Given the description of an element on the screen output the (x, y) to click on. 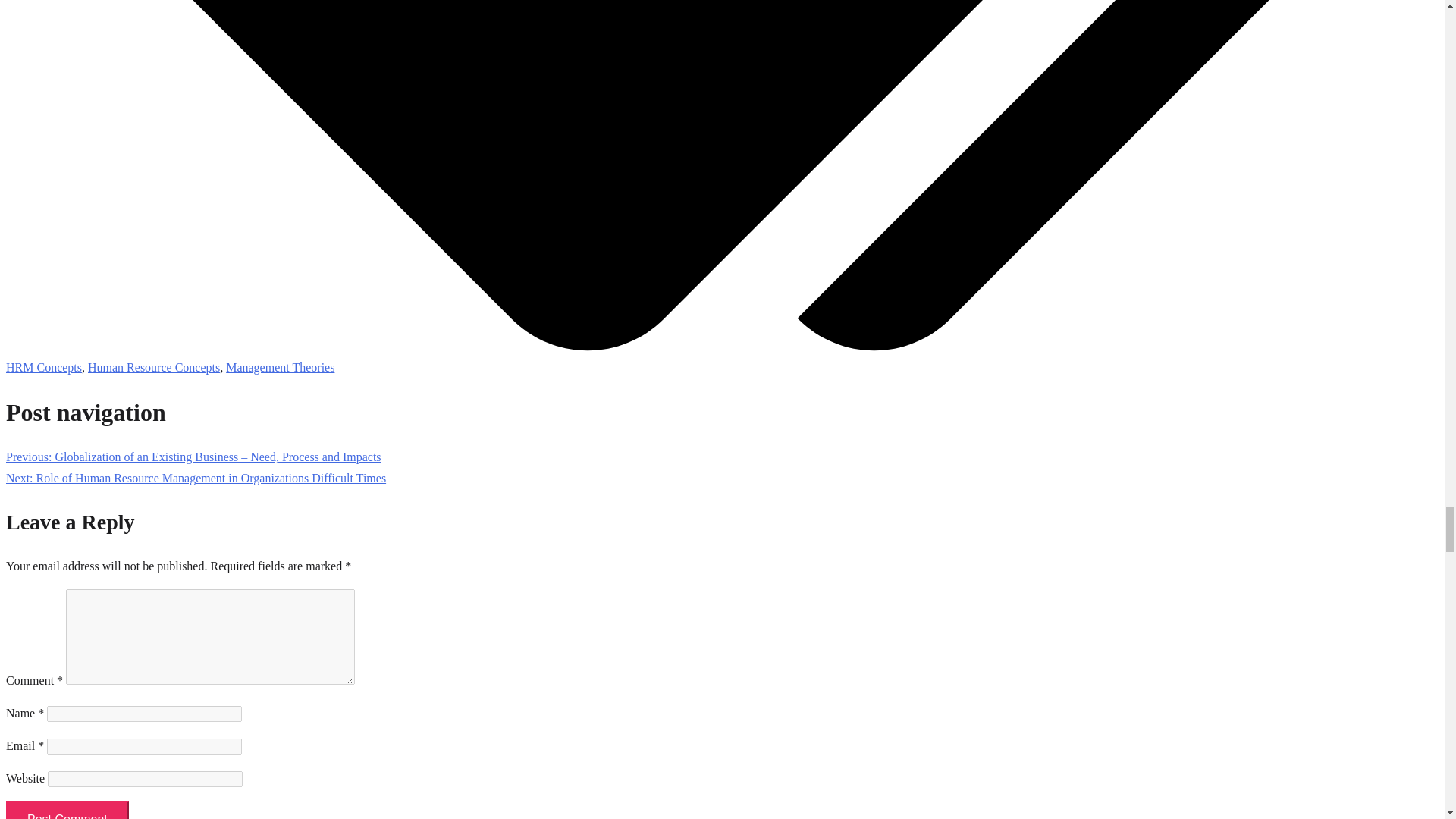
Post Comment (67, 809)
